Given the description of an element on the screen output the (x, y) to click on. 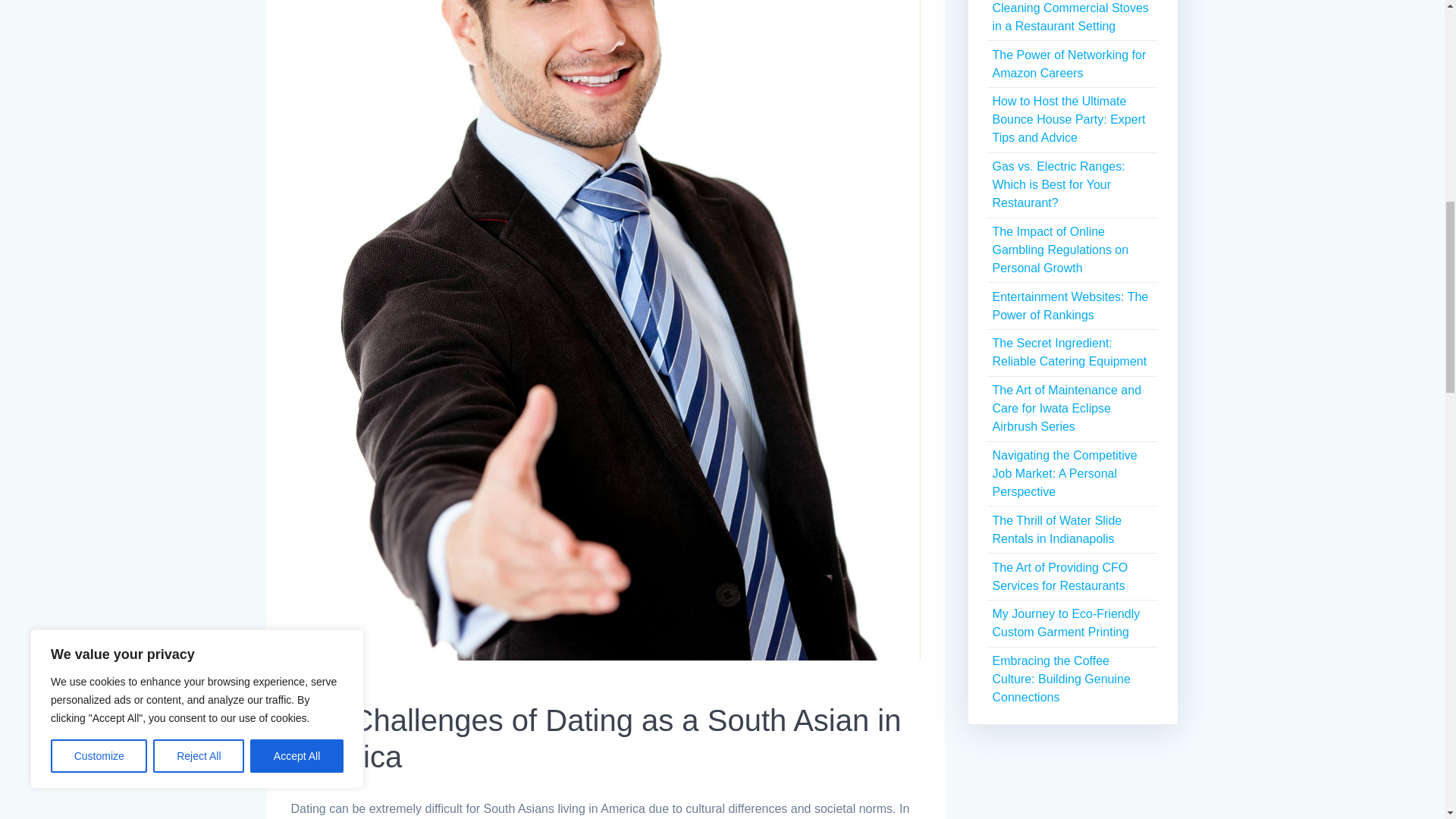
The Impact of Online Gambling Regulations on Personal Growth (1059, 249)
Entertainment Websites: The Power of Rankings (1069, 305)
Gas vs. Electric Ranges: Which is Best for Your Restaurant? (1057, 184)
The Power of Networking for Amazon Careers (1068, 63)
